Given the description of an element on the screen output the (x, y) to click on. 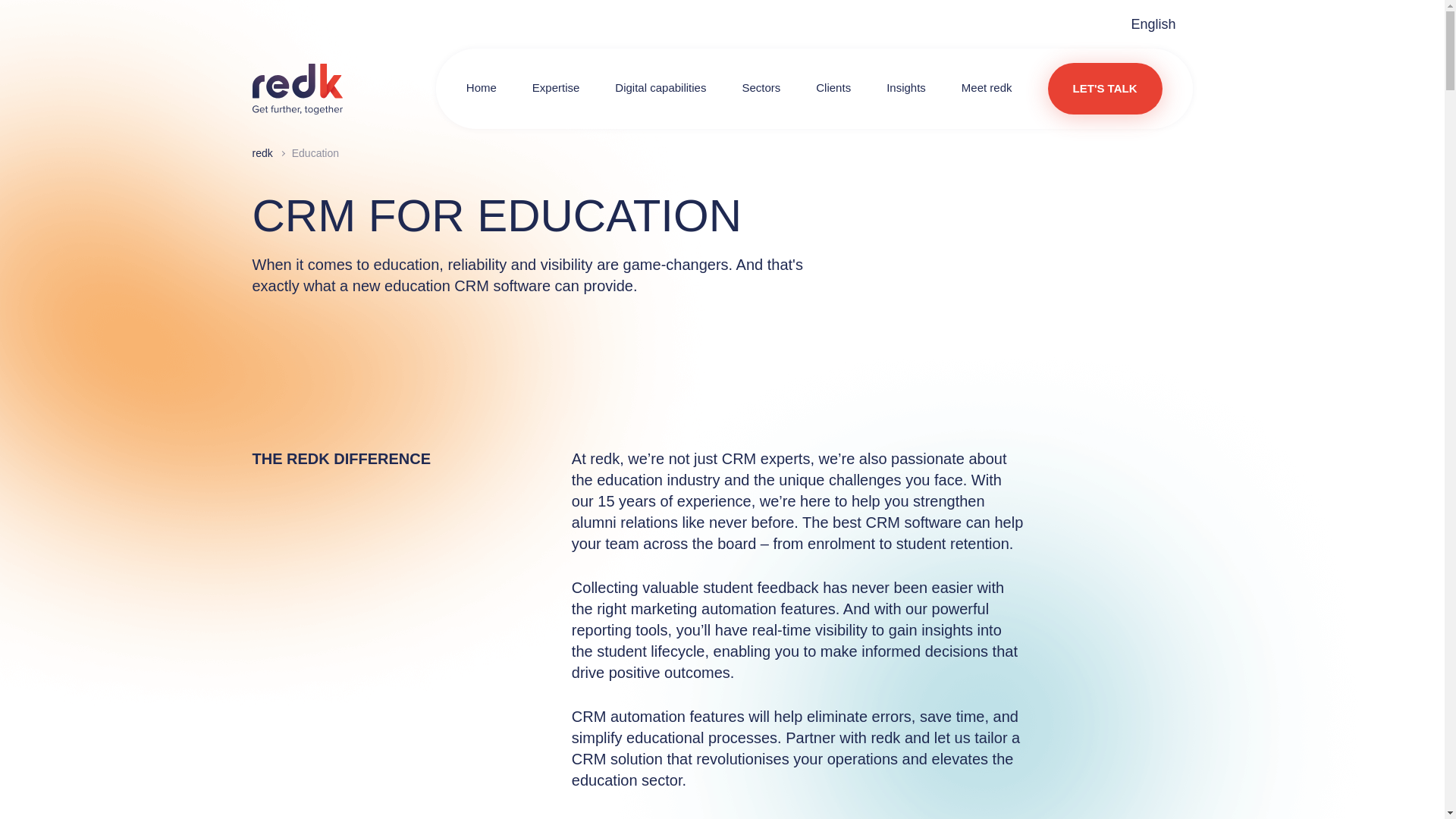
Go to Education. (315, 152)
Search (1113, 88)
Digital capabilities (660, 87)
Go to redk. (261, 152)
redk (296, 88)
